Given the description of an element on the screen output the (x, y) to click on. 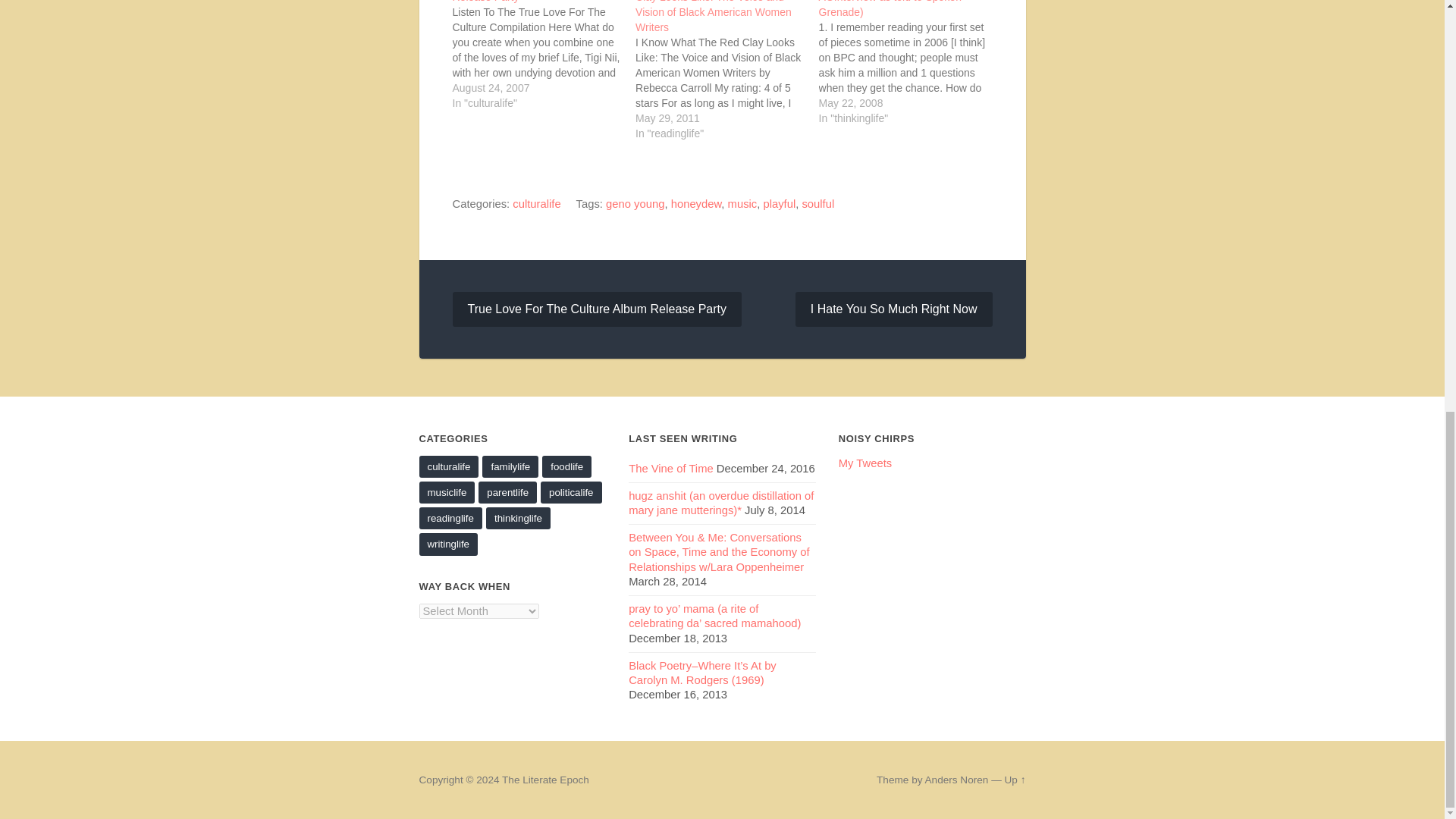
True Love For The Culture Album Release Party (596, 308)
musiclife (446, 492)
geno young (634, 203)
readinglife (450, 517)
writinglife (448, 544)
culturalife (449, 466)
thinkinglife (518, 517)
The Vine of Time (670, 468)
parentlife (508, 492)
